Given the description of an element on the screen output the (x, y) to click on. 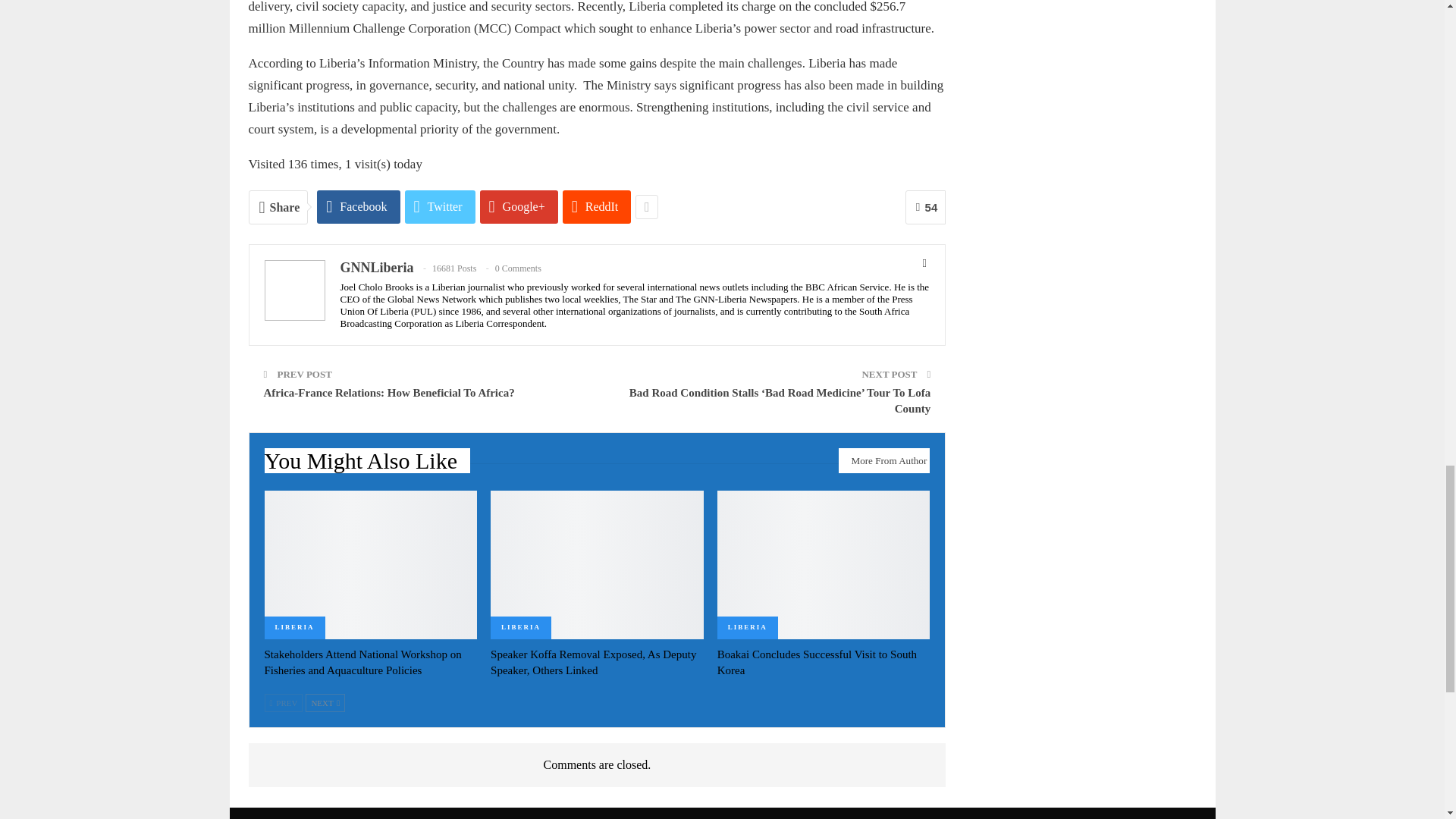
You Might Also Like (366, 463)
GNNLiberia (376, 266)
Facebook (357, 205)
Previous (282, 702)
ReddIt (596, 205)
Next (325, 702)
LIBERIA (293, 627)
Africa-France Relations: How Beneficial To Africa? (389, 392)
Boakai Concludes Successful Visit to South Korea (823, 563)
LIBERIA (520, 627)
More From Author (884, 459)
Boakai Concludes Successful Visit to South Korea (817, 662)
